Given the description of an element on the screen output the (x, y) to click on. 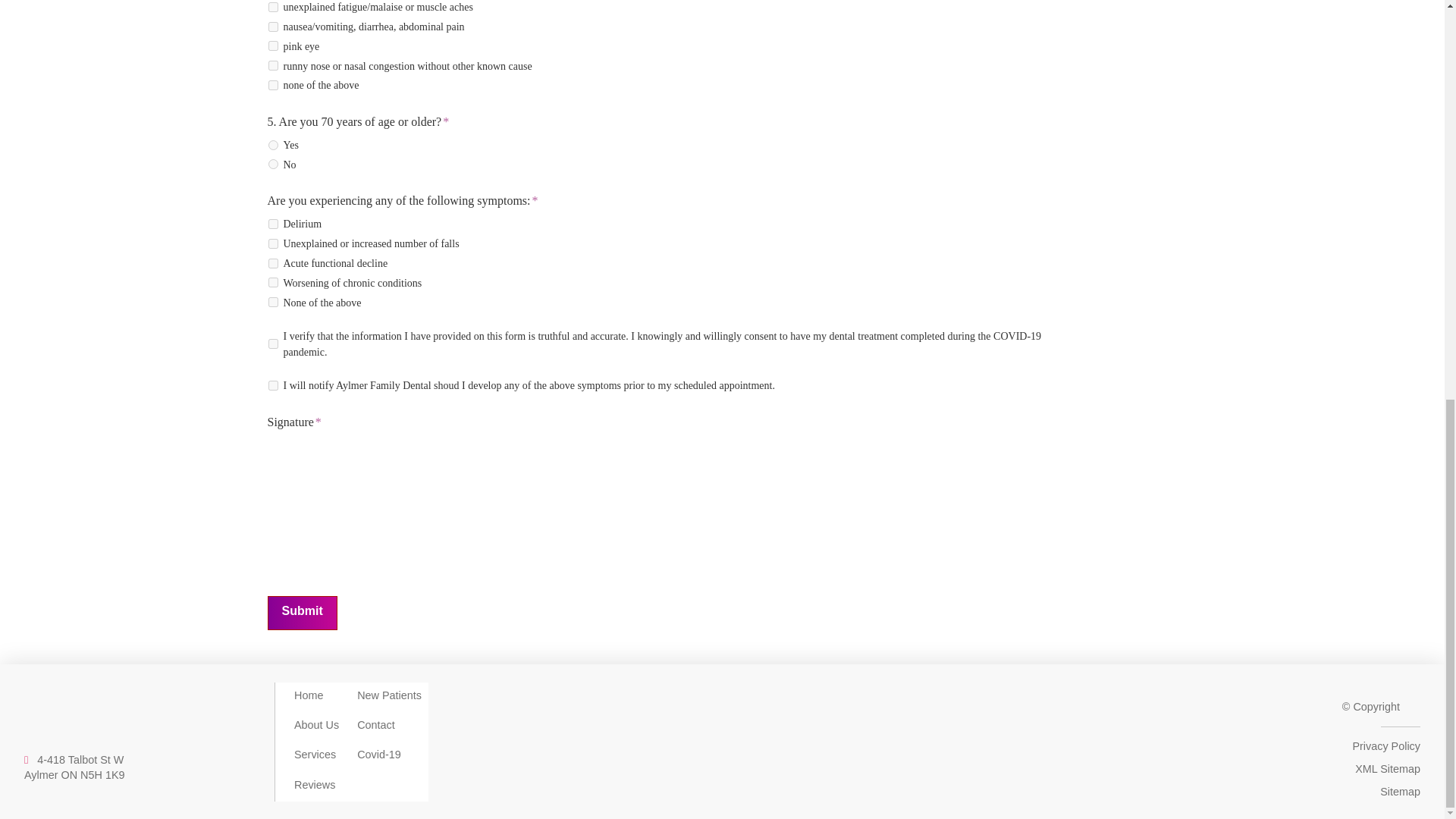
Contact (74, 767)
About Us (375, 725)
Home (316, 725)
New Patients (308, 695)
Submit (389, 695)
